Given the description of an element on the screen output the (x, y) to click on. 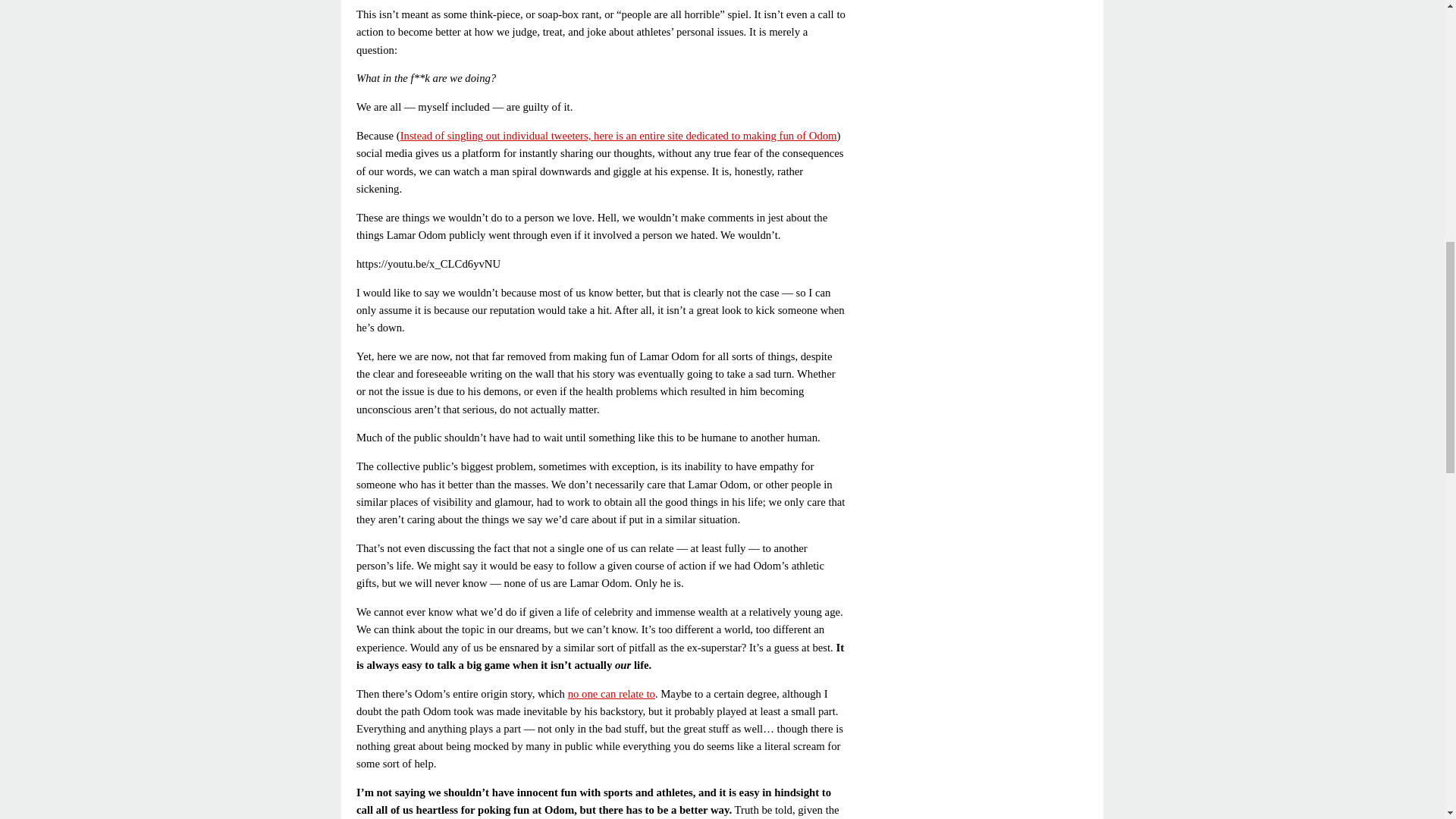
no one can relate to (611, 693)
